Given the description of an element on the screen output the (x, y) to click on. 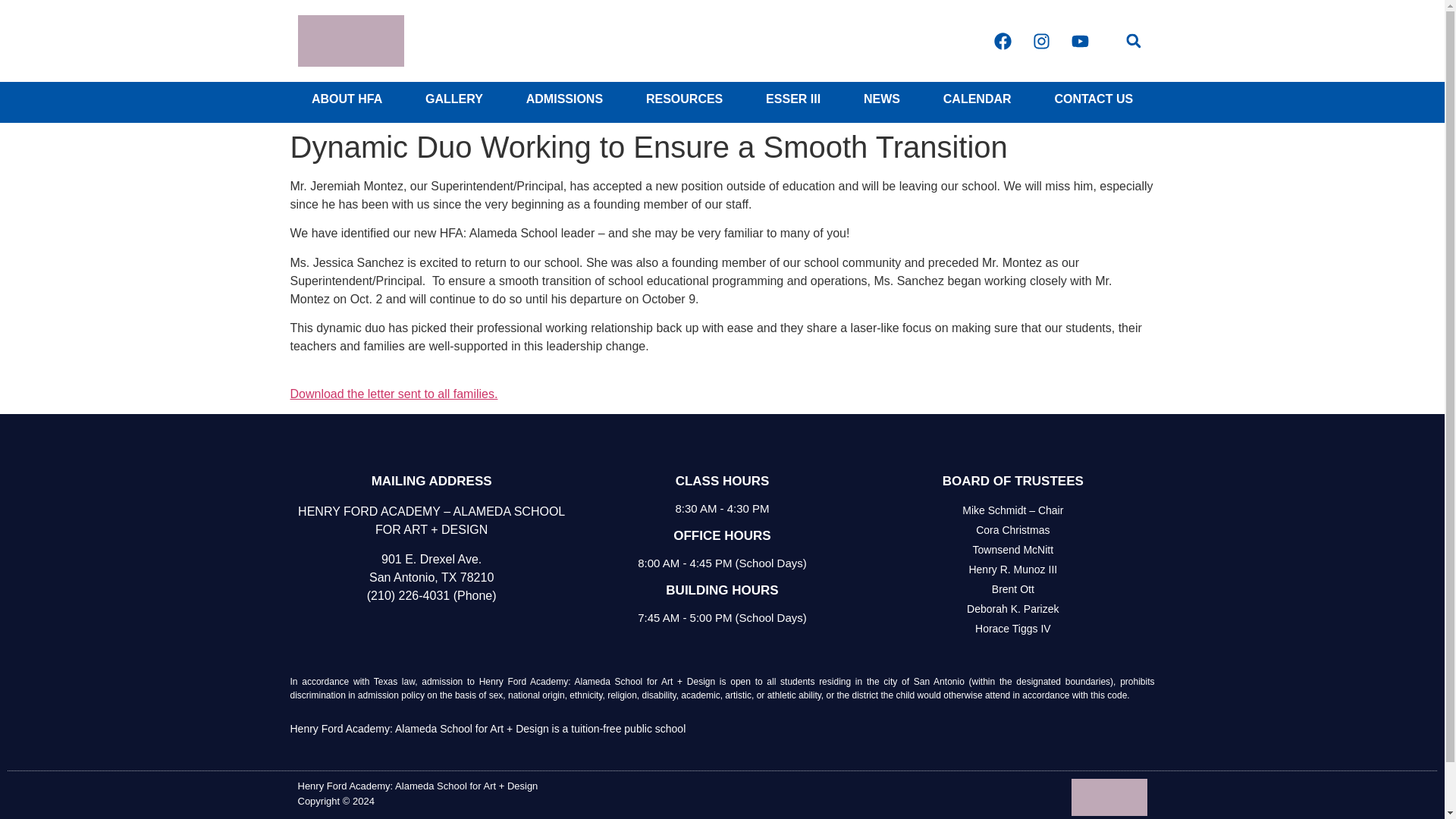
ABOUT HFA (346, 99)
Download the letter sent to all families. (393, 402)
RESOURCES (684, 99)
CALENDAR (976, 99)
ADMISSIONS (563, 99)
CONTACT US (1093, 99)
NEWS (882, 99)
ESSER III (793, 99)
GALLERY (454, 99)
